Given the description of an element on the screen output the (x, y) to click on. 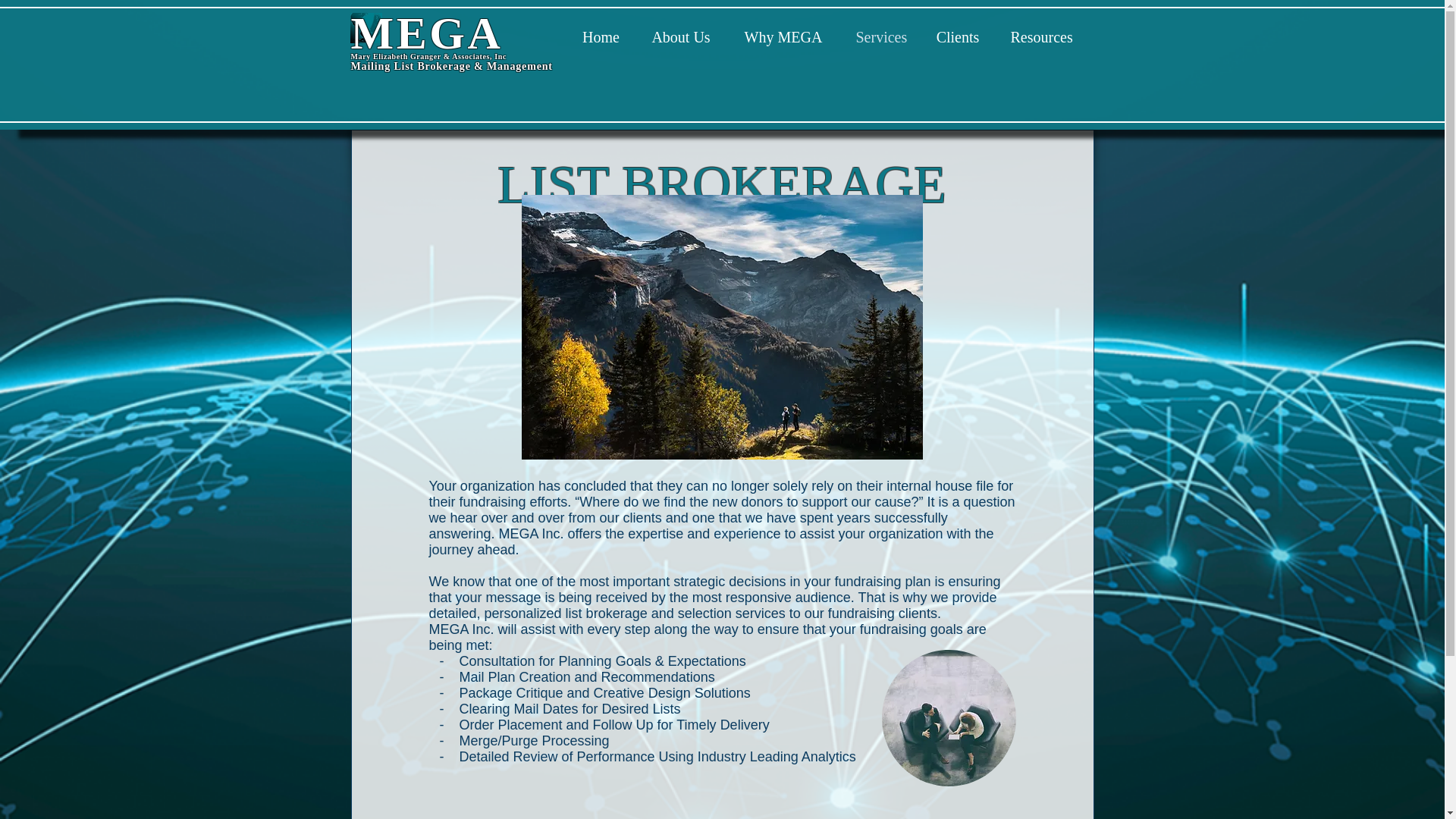
Home (600, 34)
MEGA (426, 33)
Resources (1040, 34)
Clients (957, 34)
Why MEGA (783, 34)
About Us (679, 34)
Services (880, 34)
